Given the description of an element on the screen output the (x, y) to click on. 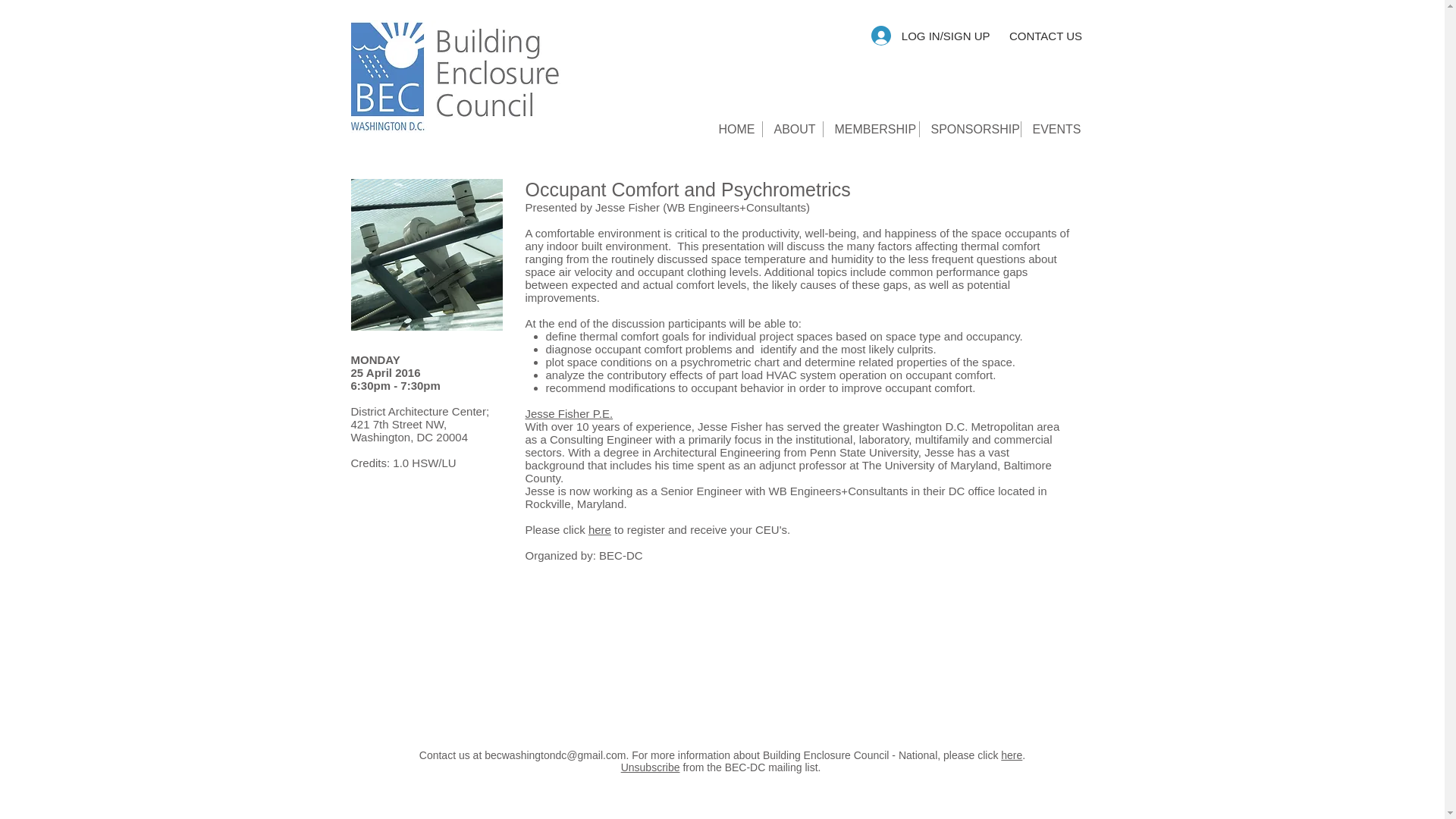
here (1011, 755)
Unsubscribe (650, 767)
DSCN7079.JPG (426, 254)
ABOUT (792, 129)
here (599, 529)
SPONSORSHIP (969, 129)
MEMBERSHIP (871, 129)
HOME (733, 129)
CONTACT US (1045, 35)
